Given the description of an element on the screen output the (x, y) to click on. 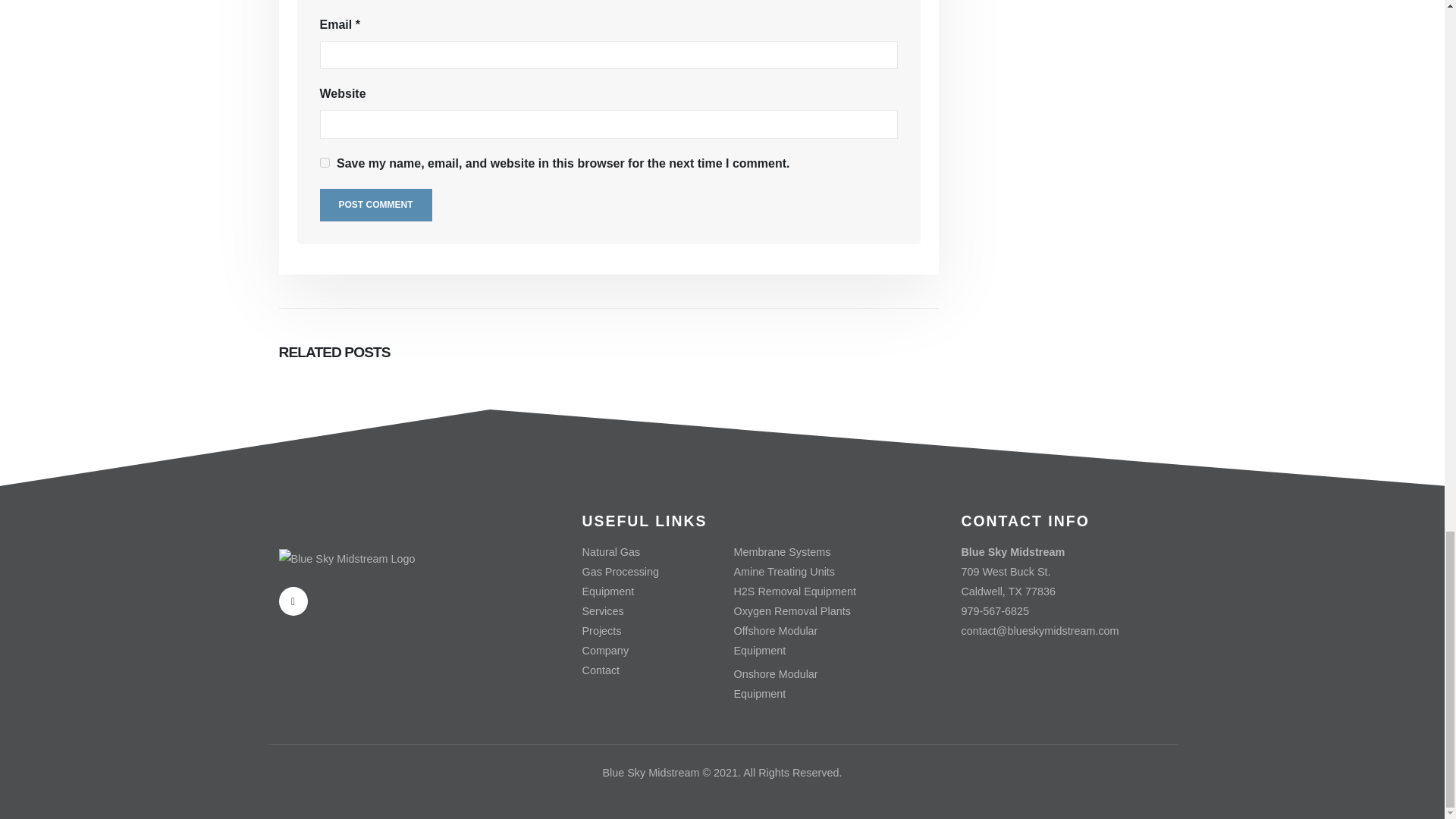
Post Comment (376, 205)
yes (325, 162)
